Given the description of an element on the screen output the (x, y) to click on. 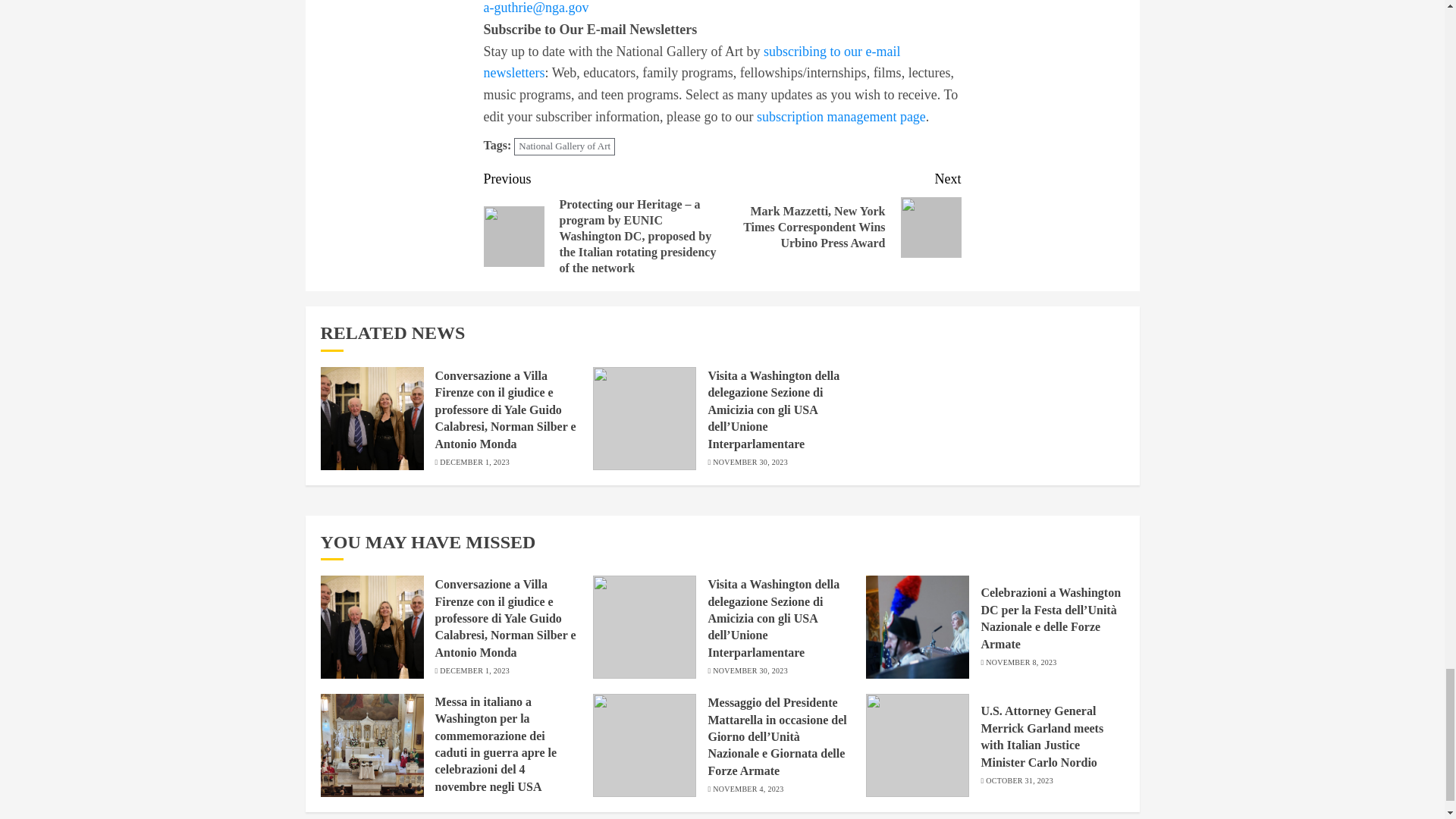
subscribing to our e-mail newsletters (692, 62)
DECEMBER 1, 2023 (474, 462)
subscription management page (841, 116)
National Gallery of Art (563, 146)
